Given the description of an element on the screen output the (x, y) to click on. 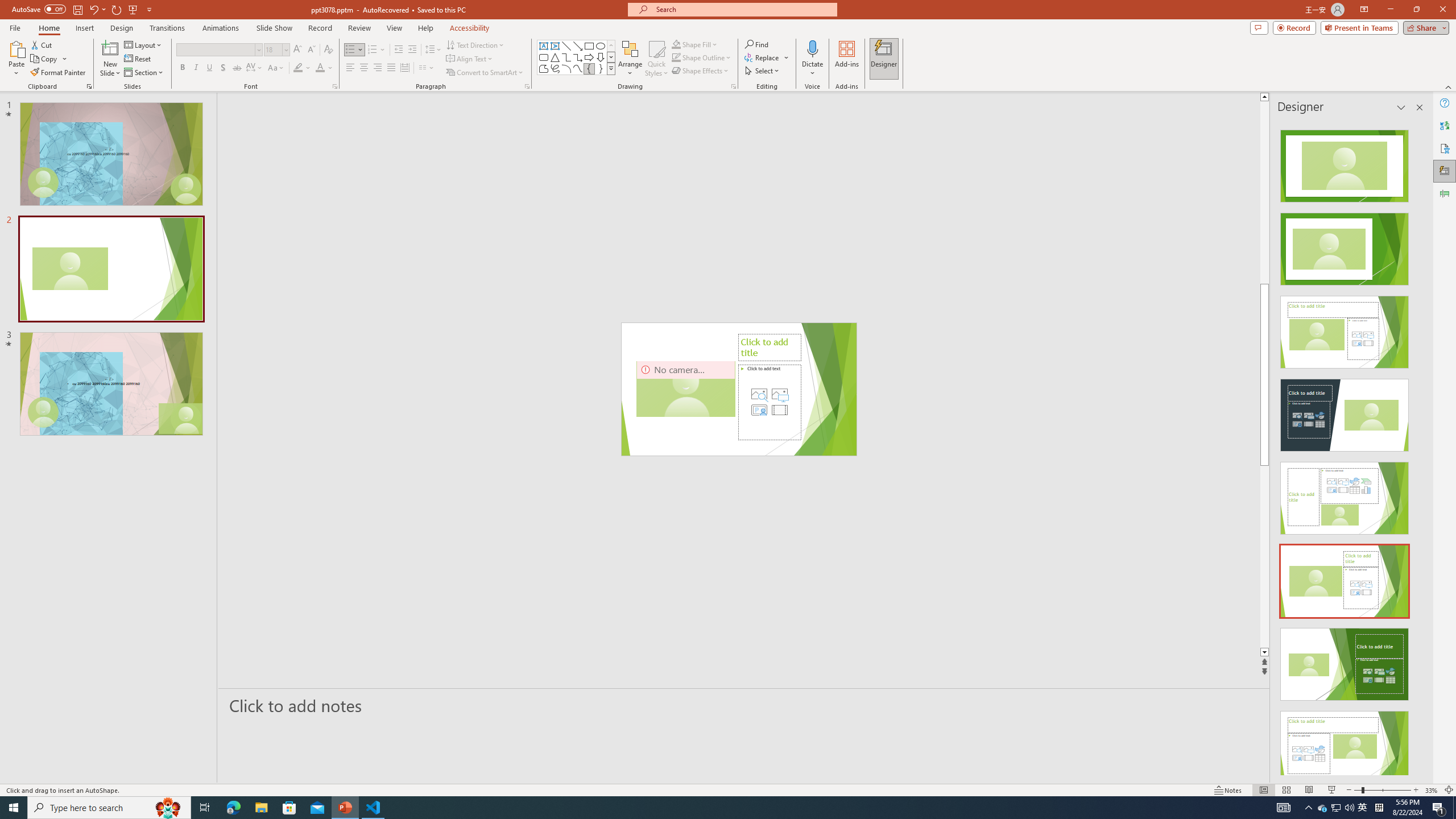
Class: NetUIScrollBar (1418, 447)
